Given the description of an element on the screen output the (x, y) to click on. 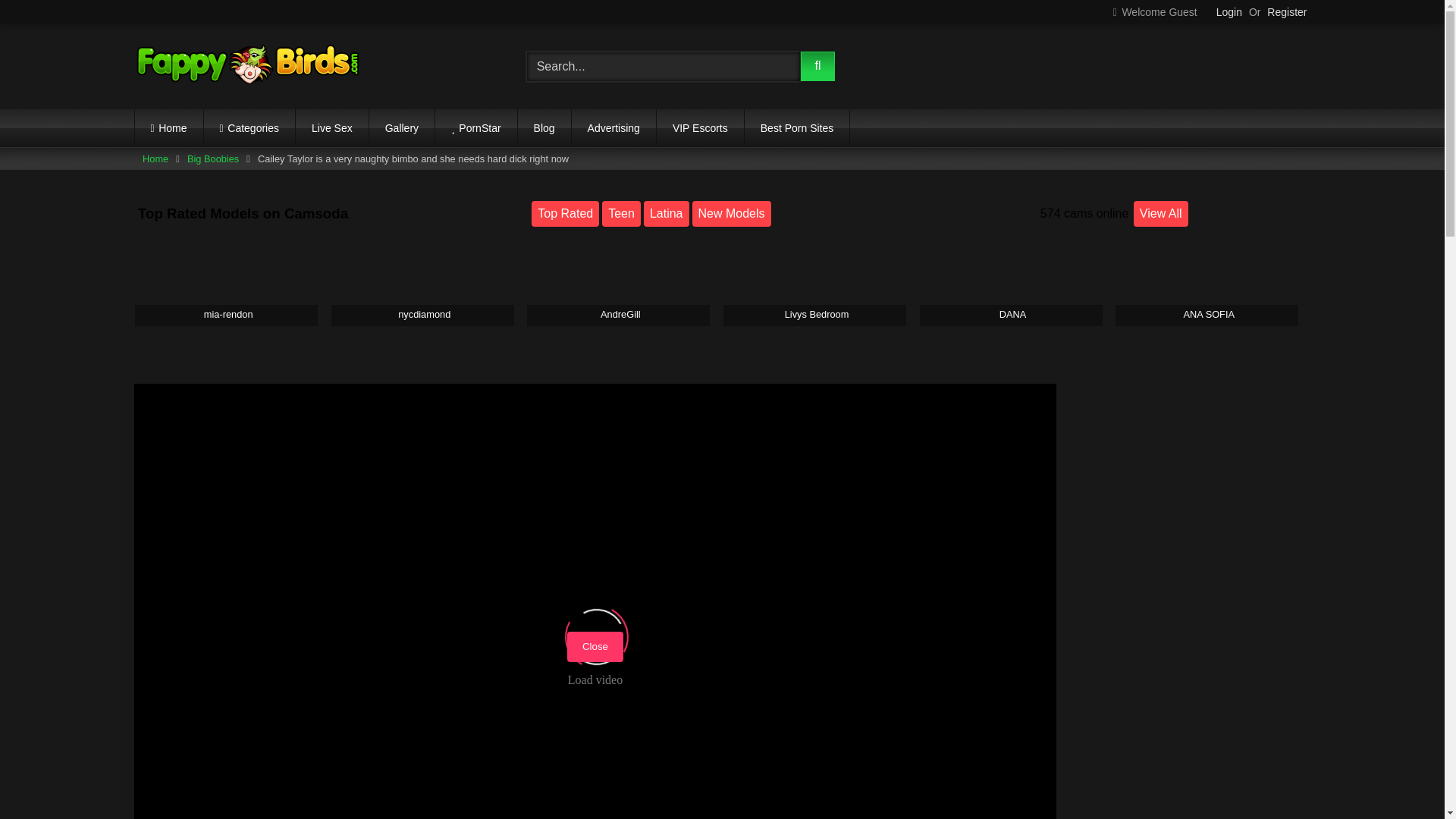
Register (1286, 12)
Login (1228, 12)
VIP Escorts (700, 127)
PornStar (475, 127)
Big Boobies (212, 158)
Best Porn Sites (797, 127)
Search... (662, 66)
Advertising (614, 127)
Blog (544, 127)
Home (155, 158)
Categories (249, 127)
Home (169, 127)
Live Sex (331, 127)
Gallery (401, 127)
